Given the description of an element on the screen output the (x, y) to click on. 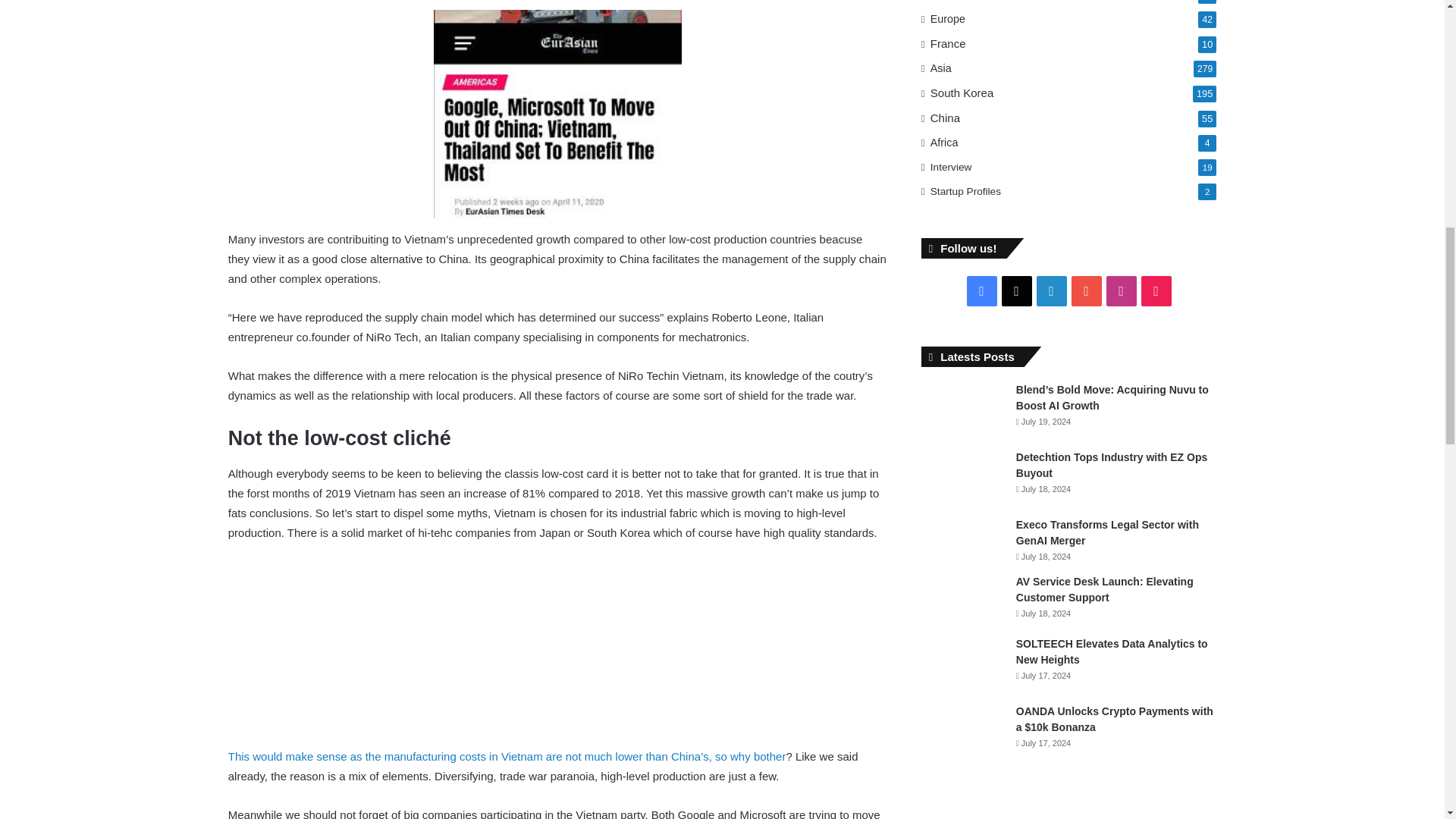
Why Vietnam is being chosen as the new China ? 2 (381, 648)
Why Vietnam is being chosen as the new China ? 1 (557, 113)
